Given the description of an element on the screen output the (x, y) to click on. 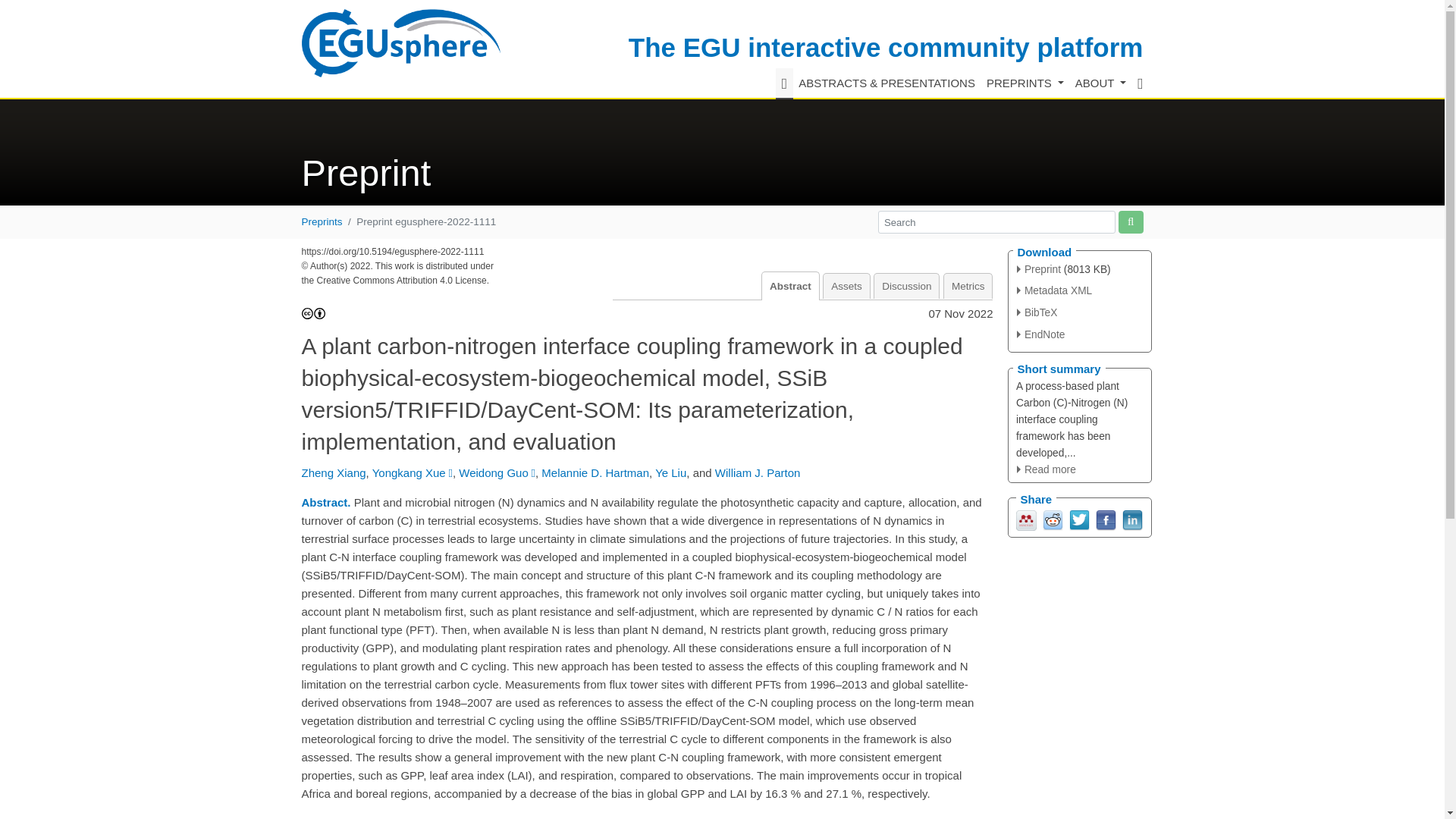
Start site search (1130, 221)
Abstract (790, 286)
The EGU interactive community platform (885, 47)
Preprints (321, 221)
Assets (846, 285)
PREPRINTS (1023, 83)
ABOUT (1099, 83)
